Given the description of an element on the screen output the (x, y) to click on. 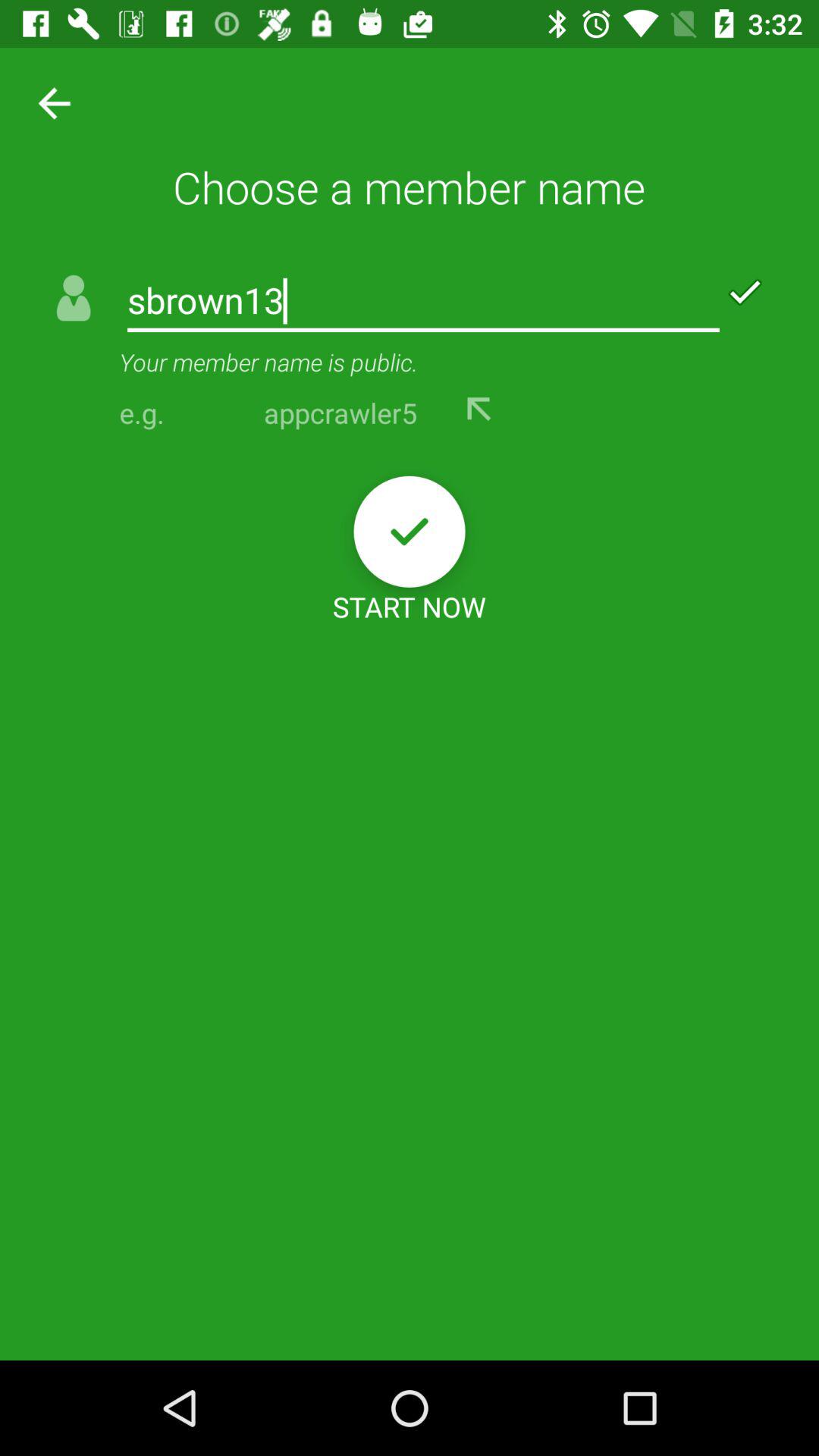
click icon below the appcrawler5 item (409, 531)
